Given the description of an element on the screen output the (x, y) to click on. 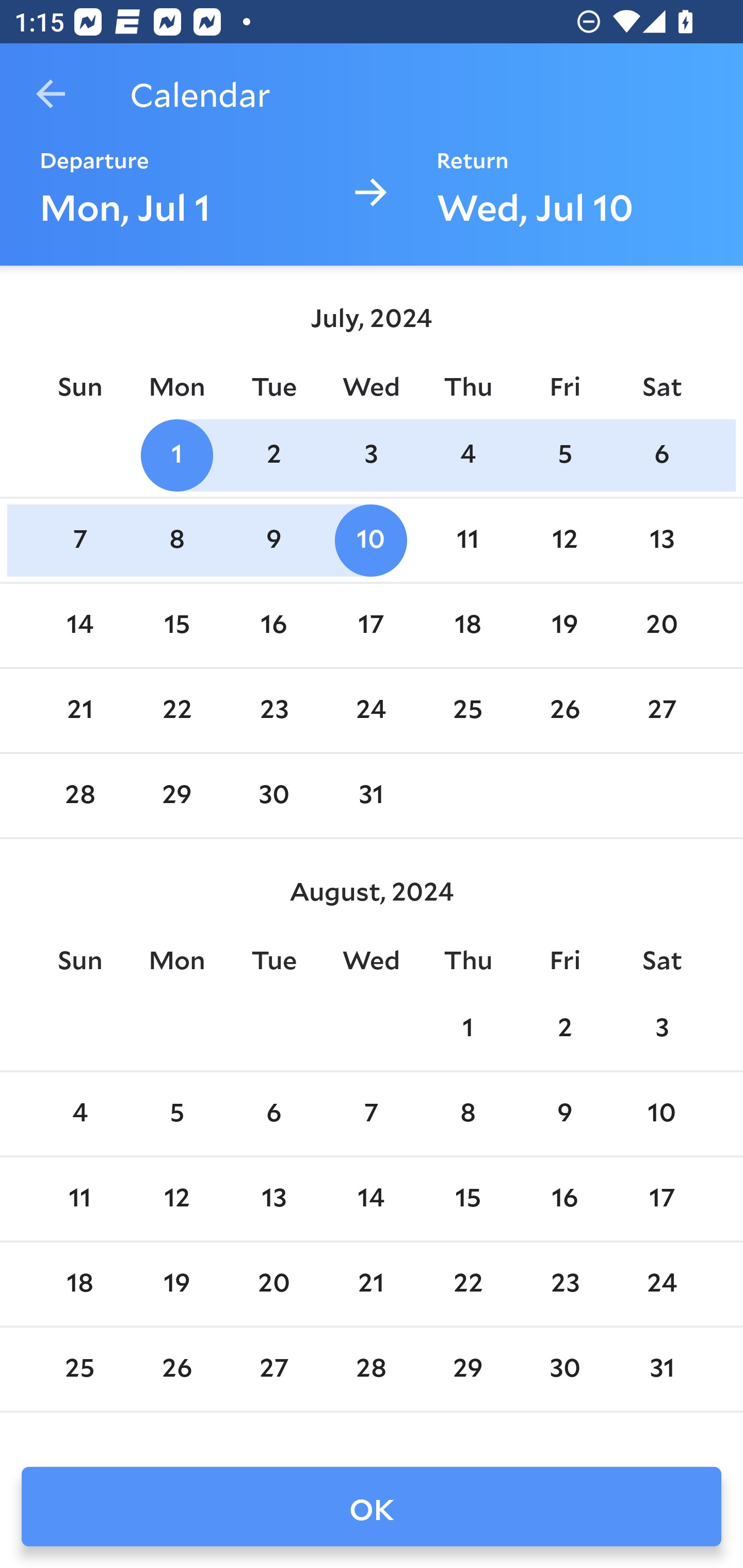
Navigate up (50, 93)
1 (177, 454)
2 (273, 454)
3 (371, 454)
4 (467, 454)
5 (565, 454)
6 (661, 454)
7 (79, 540)
8 (177, 540)
9 (273, 540)
10 (371, 540)
11 (467, 540)
12 (565, 540)
13 (661, 540)
14 (79, 625)
15 (177, 625)
16 (273, 625)
17 (371, 625)
18 (467, 625)
19 (565, 625)
20 (661, 625)
21 (79, 710)
22 (177, 710)
23 (273, 710)
24 (371, 710)
25 (467, 710)
26 (565, 710)
27 (661, 710)
28 (79, 796)
29 (177, 796)
30 (273, 796)
31 (371, 796)
1 (467, 1028)
2 (565, 1028)
3 (661, 1028)
4 (79, 1114)
5 (177, 1114)
6 (273, 1114)
7 (371, 1114)
8 (467, 1114)
9 (565, 1114)
10 (661, 1114)
11 (79, 1199)
12 (177, 1199)
13 (273, 1199)
14 (371, 1199)
15 (467, 1199)
16 (565, 1199)
17 (661, 1199)
18 (79, 1284)
19 (177, 1284)
20 (273, 1284)
21 (371, 1284)
22 (467, 1284)
23 (565, 1284)
24 (661, 1284)
25 (79, 1368)
26 (177, 1368)
27 (273, 1368)
28 (371, 1368)
29 (467, 1368)
30 (565, 1368)
31 (661, 1368)
OK (371, 1506)
